Given the description of an element on the screen output the (x, y) to click on. 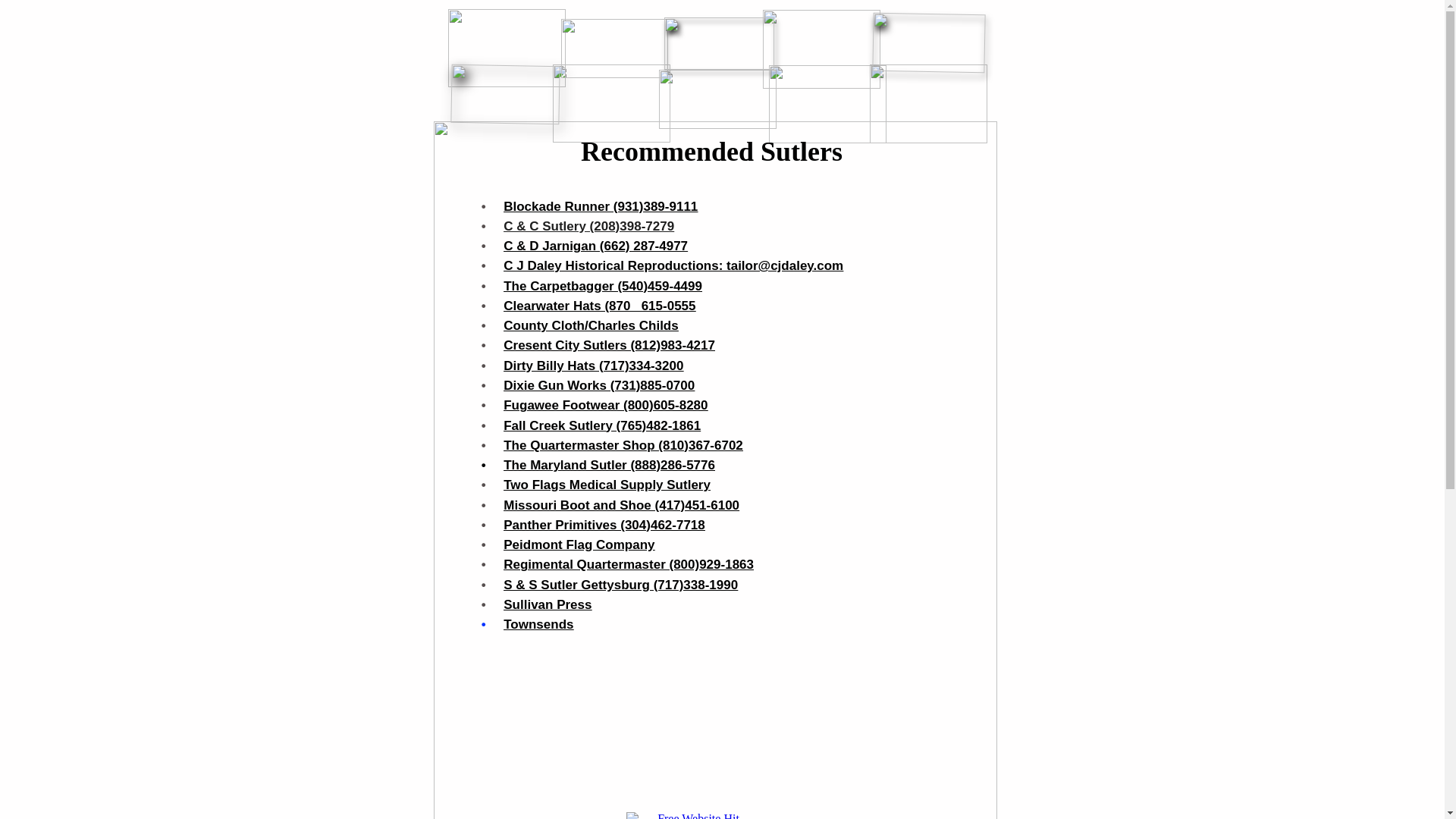
Townsends Element type: text (538, 624)
Fall Creek Sutlery (765)482-1861 Element type: text (601, 425)
S & S Sutler Gettysburg (717)338-1990 Element type: text (620, 584)
County Cloth/Charles Childs Element type: text (590, 325)
C & D Jarnigan (662) 287-4977 Element type: text (595, 245)
Clearwater Hats (870_ 615-0555 Element type: text (599, 305)
Panther Primitives (304)462-7718 Element type: text (604, 524)
C J Daley Historical Reproductions: tailor@cjdaley.com Element type: text (673, 265)
Blockade Runner (931)389-9111 Element type: text (600, 206)
Missouri Boot and Shoe (417)451-6100 Element type: text (621, 505)
The Maryland Sutler (888)286-5776 Element type: text (609, 465)
Fugawee Footwear (800)605-8280 Element type: text (605, 405)
Peidmont Flag Company Element type: text (578, 544)
Dirty Billy Hats (717)334-3200 Element type: text (593, 365)
Regimental Quartermaster (800)929-1863 Element type: text (628, 564)
Cresent City Sutlers (812)983-4217 Element type: text (609, 345)
Two Flags Medical Supply Sutlery Element type: text (606, 484)
Sullivan Press Element type: text (547, 604)
The Carpetbagger (540)459-4499 Element type: text (602, 286)
C & C Sutlery (208)398-7279 Element type: text (588, 226)
Dixie Gun Works (731)885-0700 Element type: text (598, 385)
The Quartermaster Shop (810)367-6702 Element type: text (623, 445)
